Given the description of an element on the screen output the (x, y) to click on. 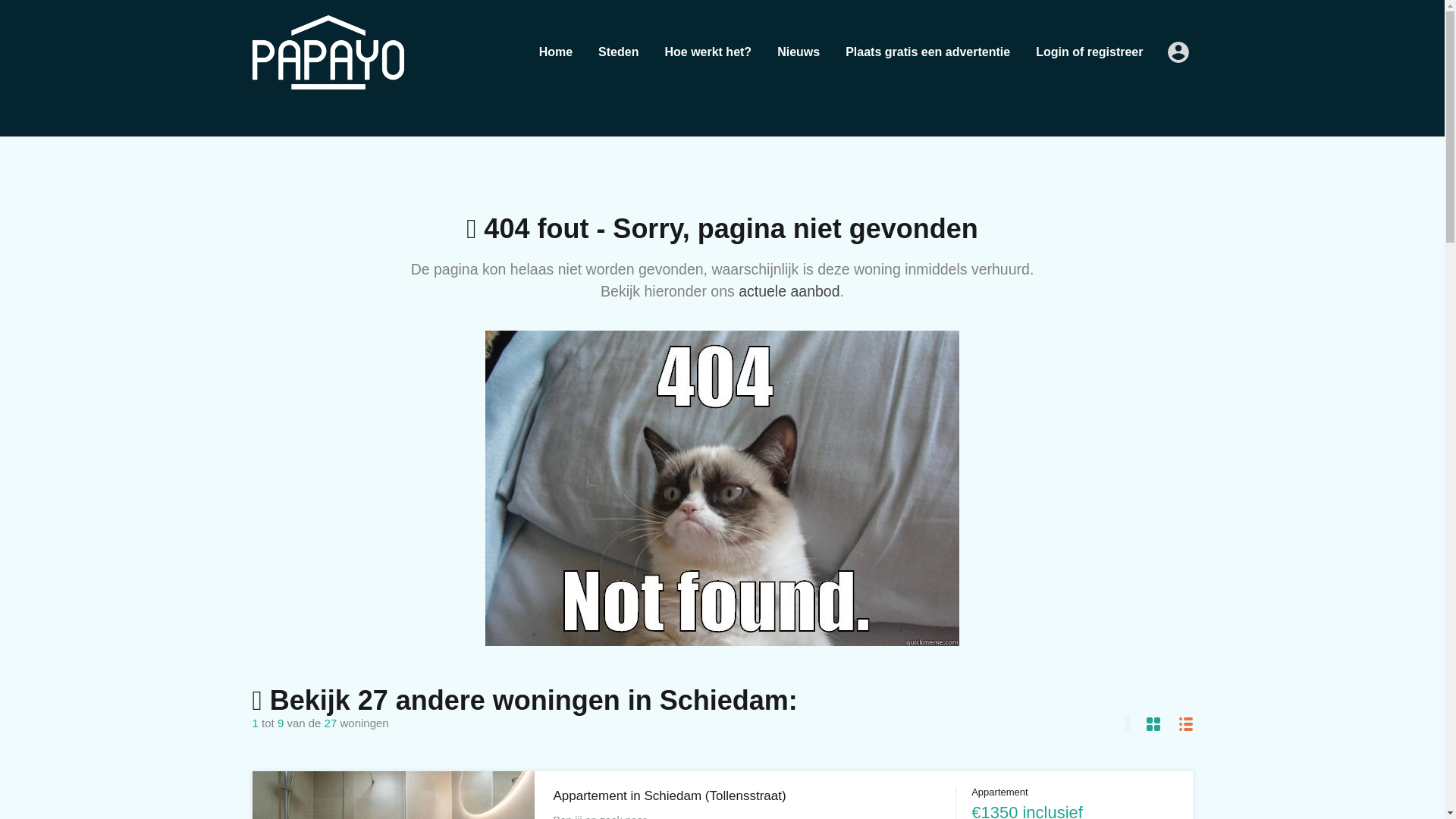
Plaats gratis een advertentie (927, 52)
Login of registreer (1089, 52)
Steden (617, 52)
Papayo (327, 82)
Hoe werkt het? (707, 52)
actuele aanbod (789, 290)
Home (555, 52)
Nieuws (798, 52)
